Given the description of an element on the screen output the (x, y) to click on. 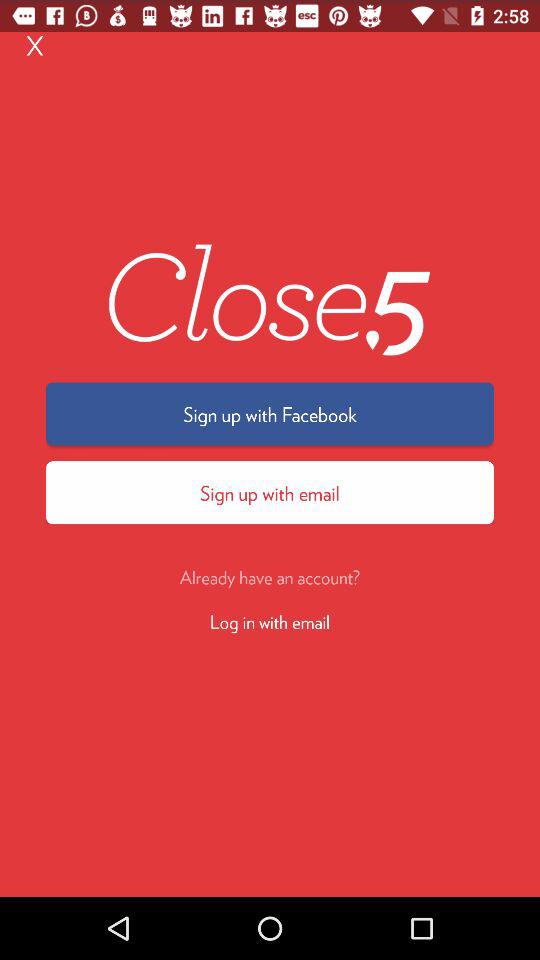
choose the icon above sign up with icon (35, 44)
